Given the description of an element on the screen output the (x, y) to click on. 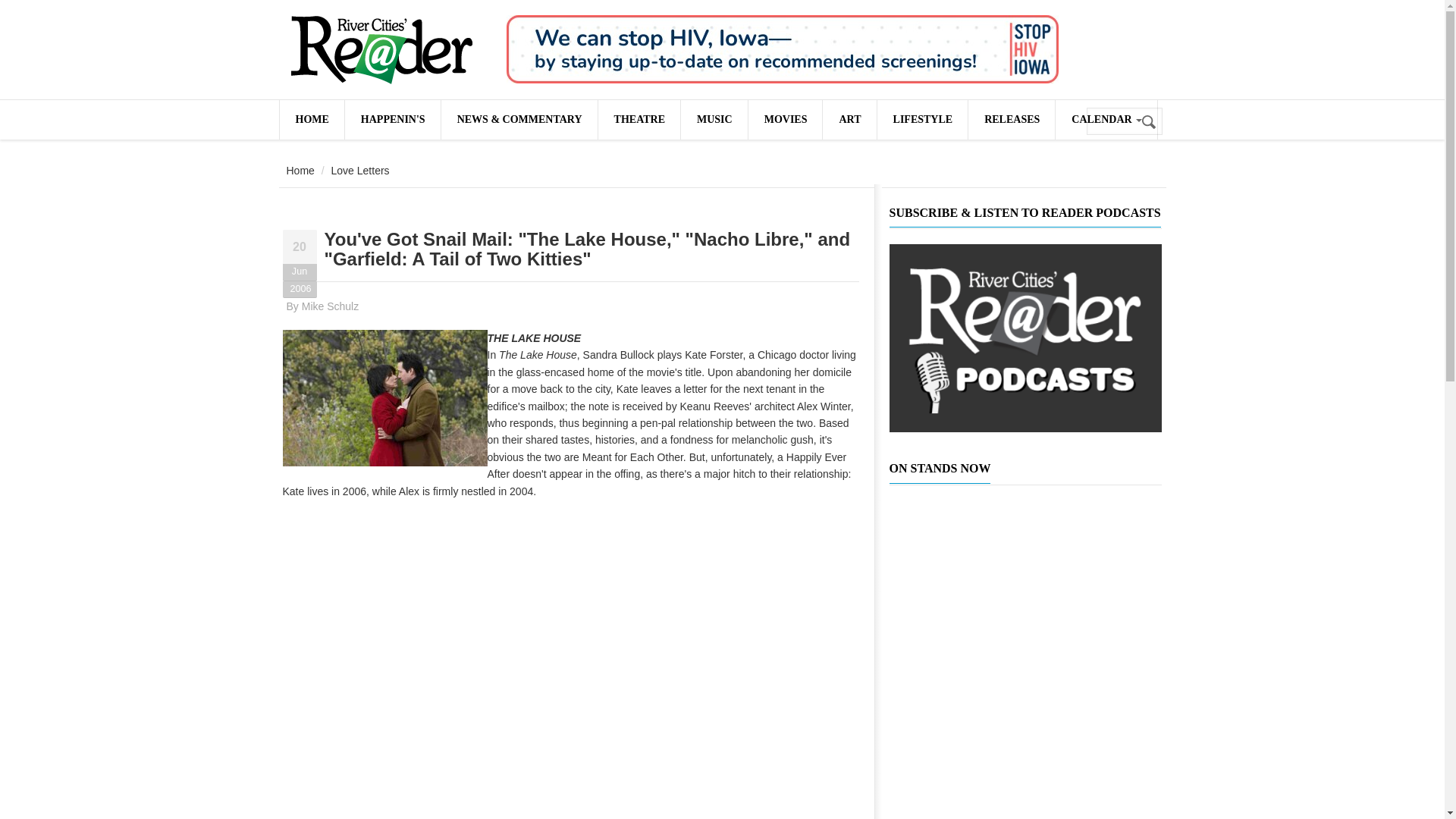
Movies (785, 119)
News Releases (1011, 119)
Home (381, 49)
RELEASES (1011, 119)
Theatre (638, 119)
Sandra Bullock and Keanu Reeves in The Lake House (384, 398)
Enter the terms you wish to search for. (1123, 121)
Art (849, 119)
Home (300, 170)
CALENDAR (1106, 119)
